Given the description of an element on the screen output the (x, y) to click on. 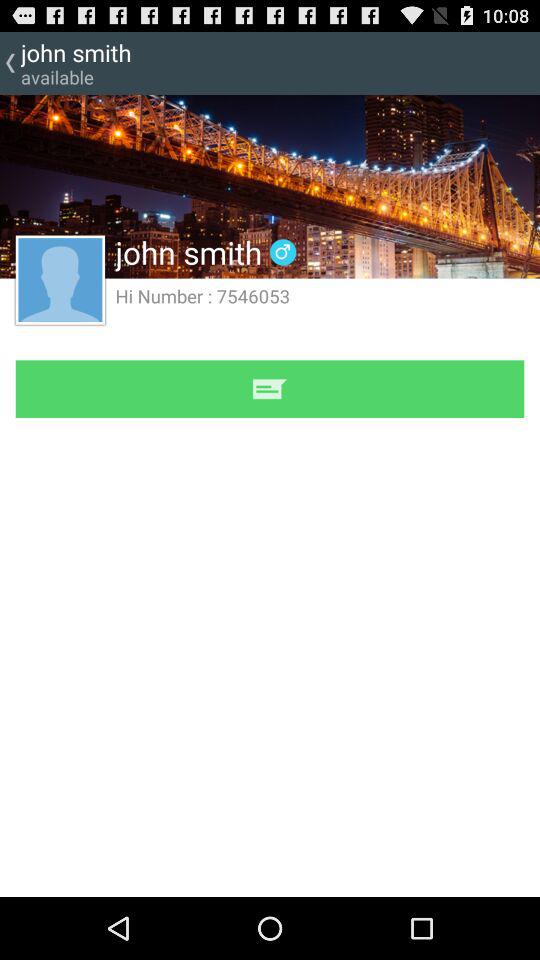
launch icon at the center (269, 388)
